Given the description of an element on the screen output the (x, y) to click on. 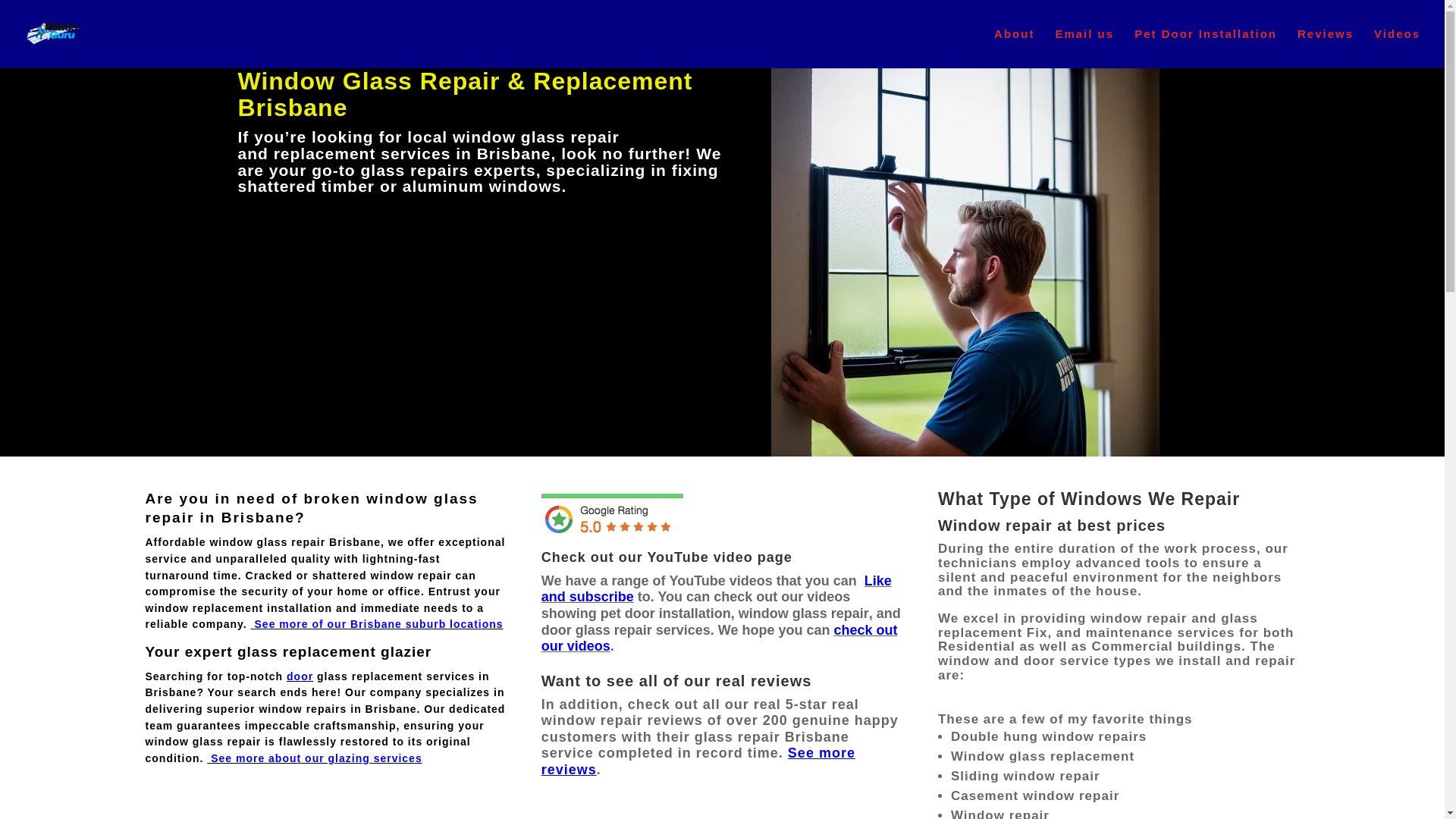
Videos Element type: text (1397, 48)
check out our videos Element type: text (719, 638)
Email us Element type: text (1083, 48)
Pet Door Installation Element type: text (1205, 48)
Reviews Element type: text (1325, 48)
See more of our Brisbane suburb locations Element type: text (378, 624)
Like and subscribe Element type: text (716, 589)
About Element type: text (1014, 48)
door Element type: text (299, 676)
See more about our glazing services Element type: text (316, 758)
See more reviews Element type: text (698, 761)
